Given the description of an element on the screen output the (x, y) to click on. 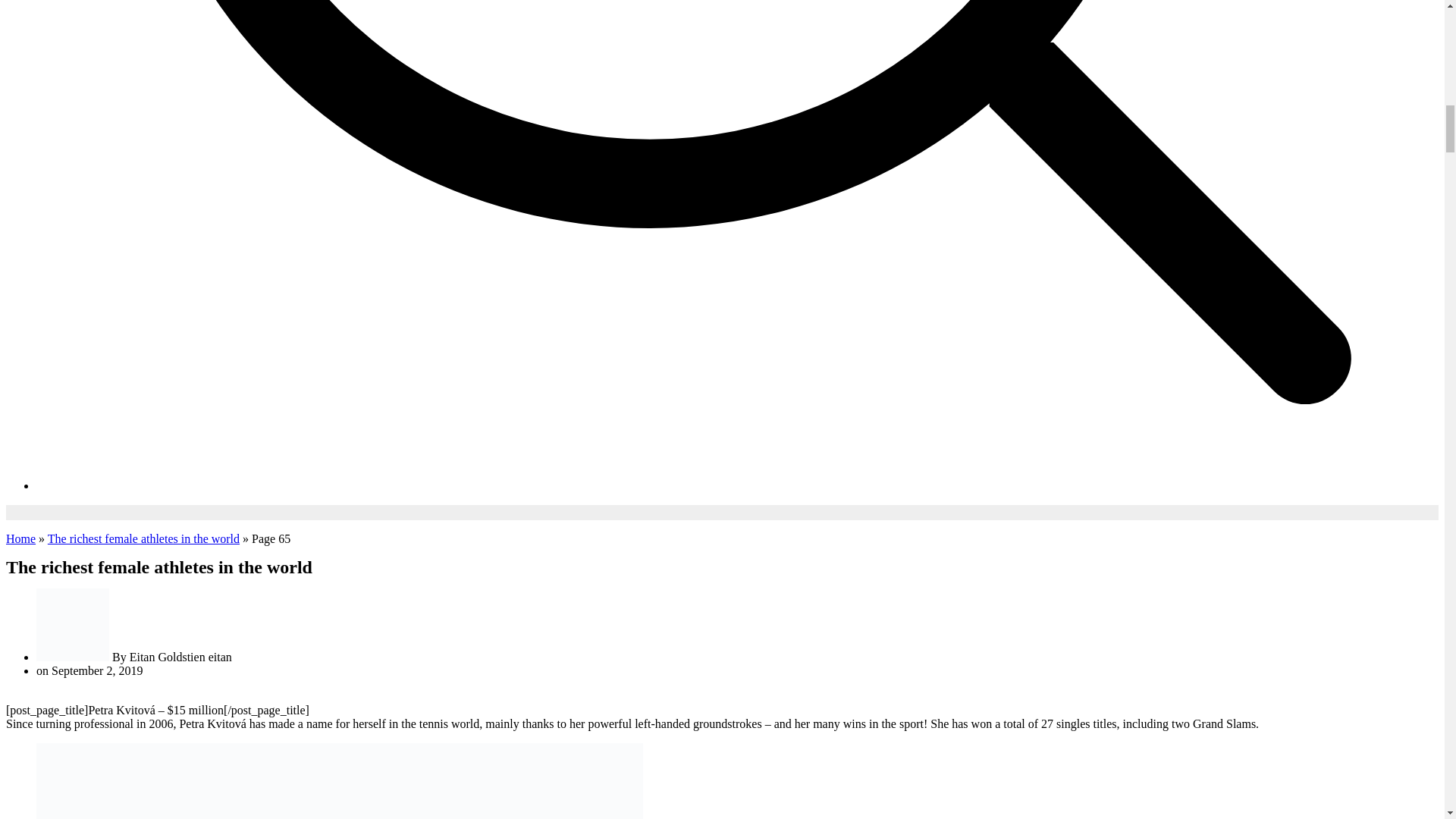
Home (19, 538)
The richest female athletes in the world (144, 538)
